Given the description of an element on the screen output the (x, y) to click on. 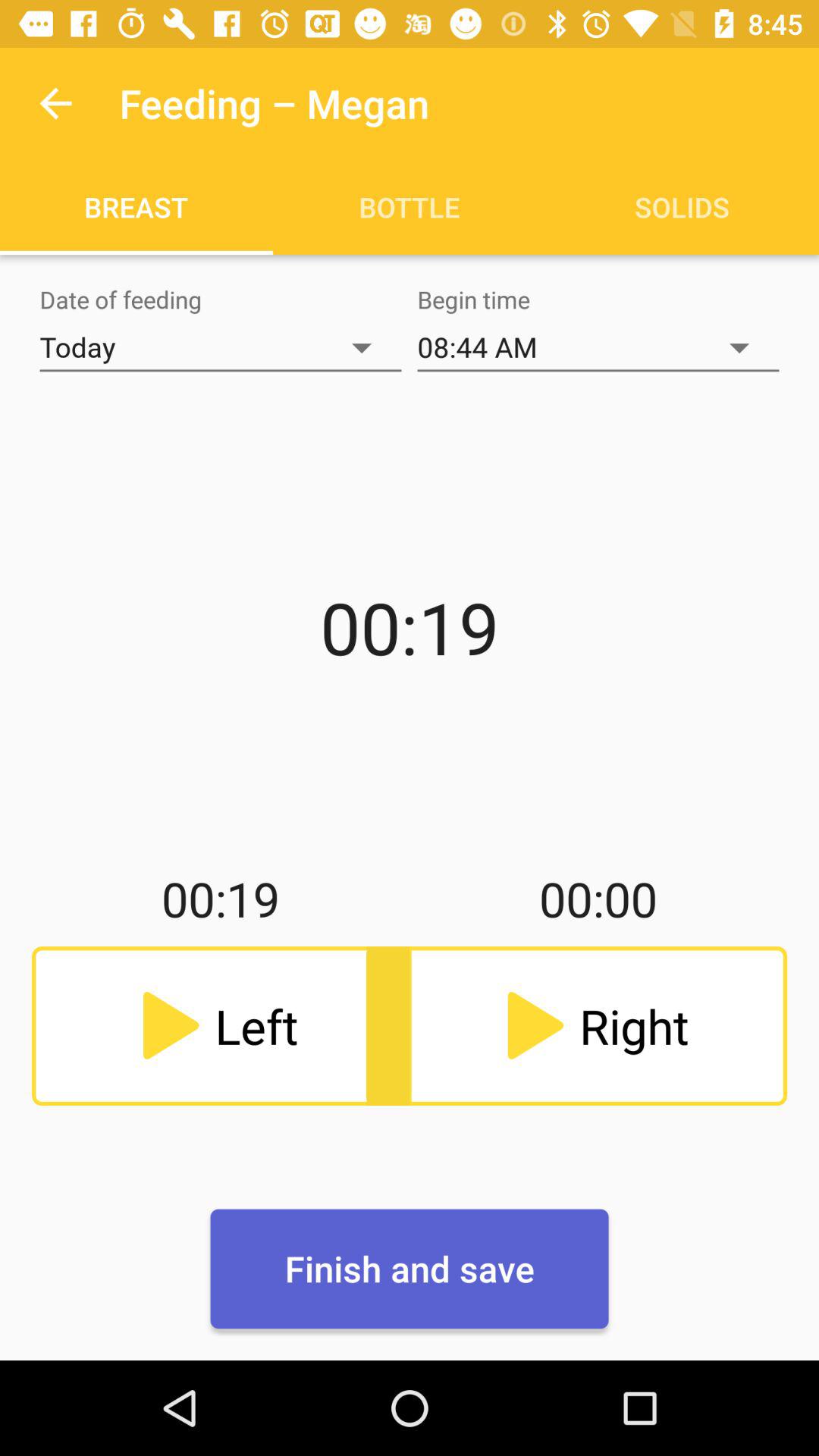
tap the item below the bottle item (598, 347)
